Given the description of an element on the screen output the (x, y) to click on. 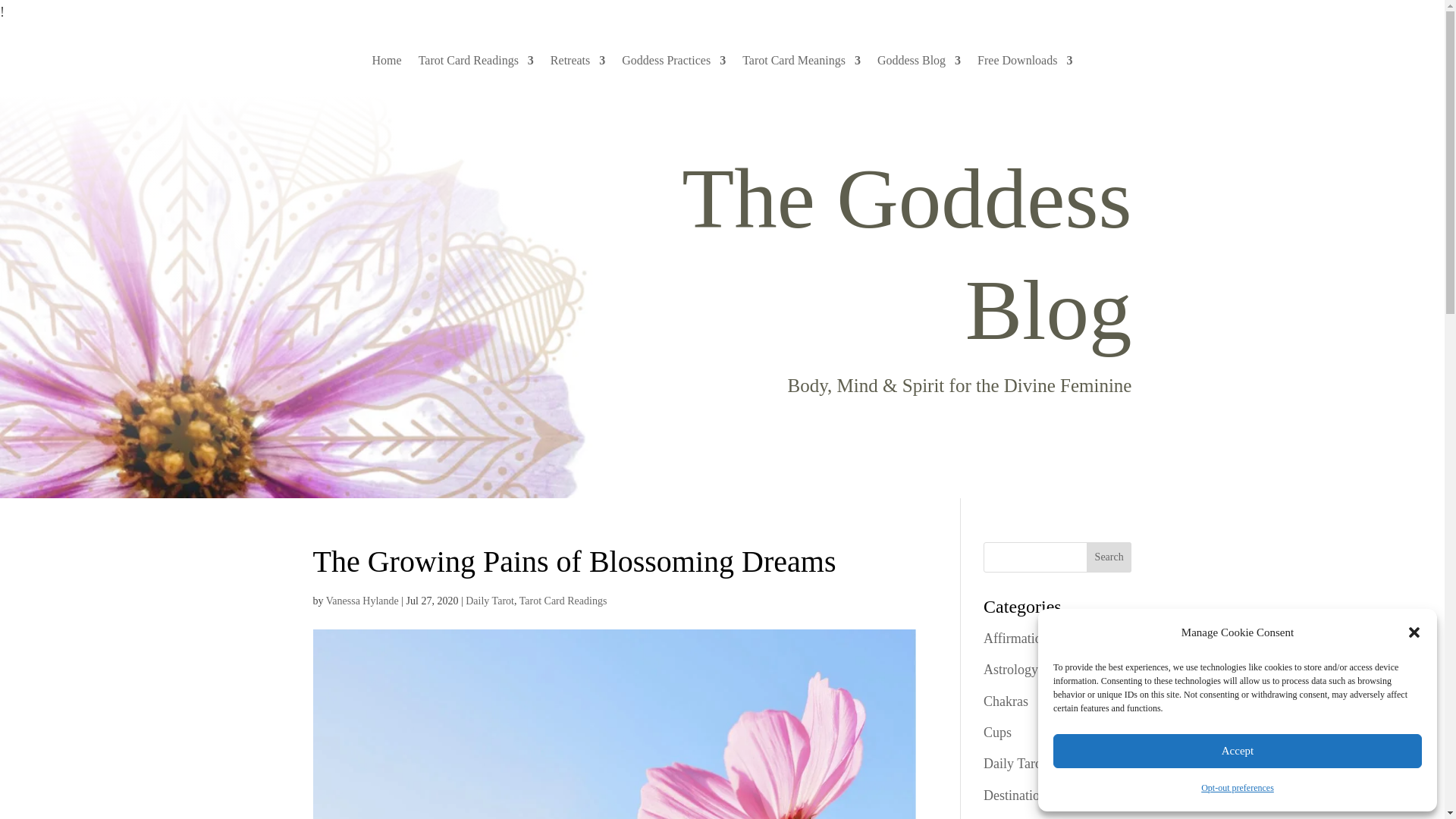
Opt-out preferences (1237, 787)
Search (1109, 557)
Home (386, 63)
Tarot Card Readings (476, 63)
Posts by Vanessa Hylande (362, 600)
Goddess Practices (673, 63)
Tarot Card Meanings (801, 63)
Accept (1237, 750)
Retreats (577, 63)
